Given the description of an element on the screen output the (x, y) to click on. 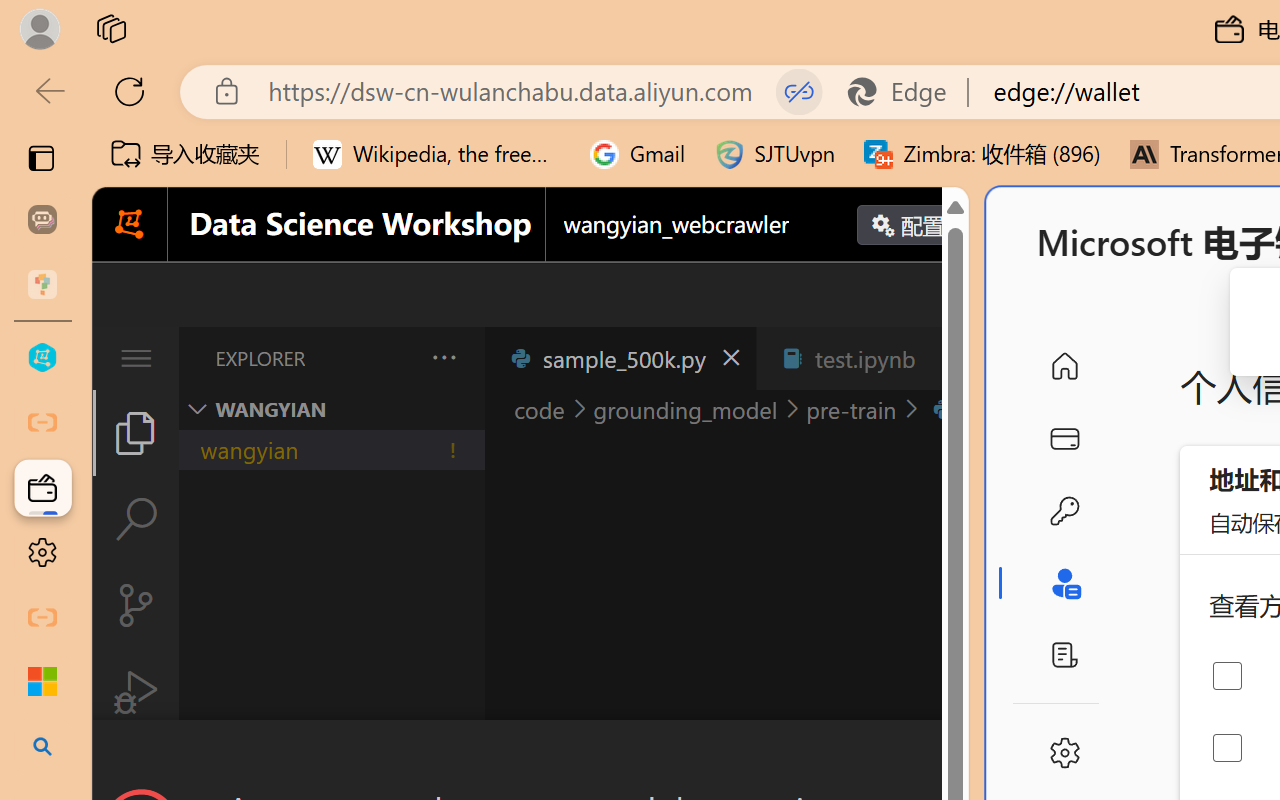
Microsoft security help and learning (42, 681)
Application Menu (135, 358)
Close (Ctrl+F4) (946, 358)
sample_500k.py (619, 358)
Edge (905, 91)
Explorer Section: wangyian (331, 409)
Search (Ctrl+Shift+F) (135, 519)
